Given the description of an element on the screen output the (x, y) to click on. 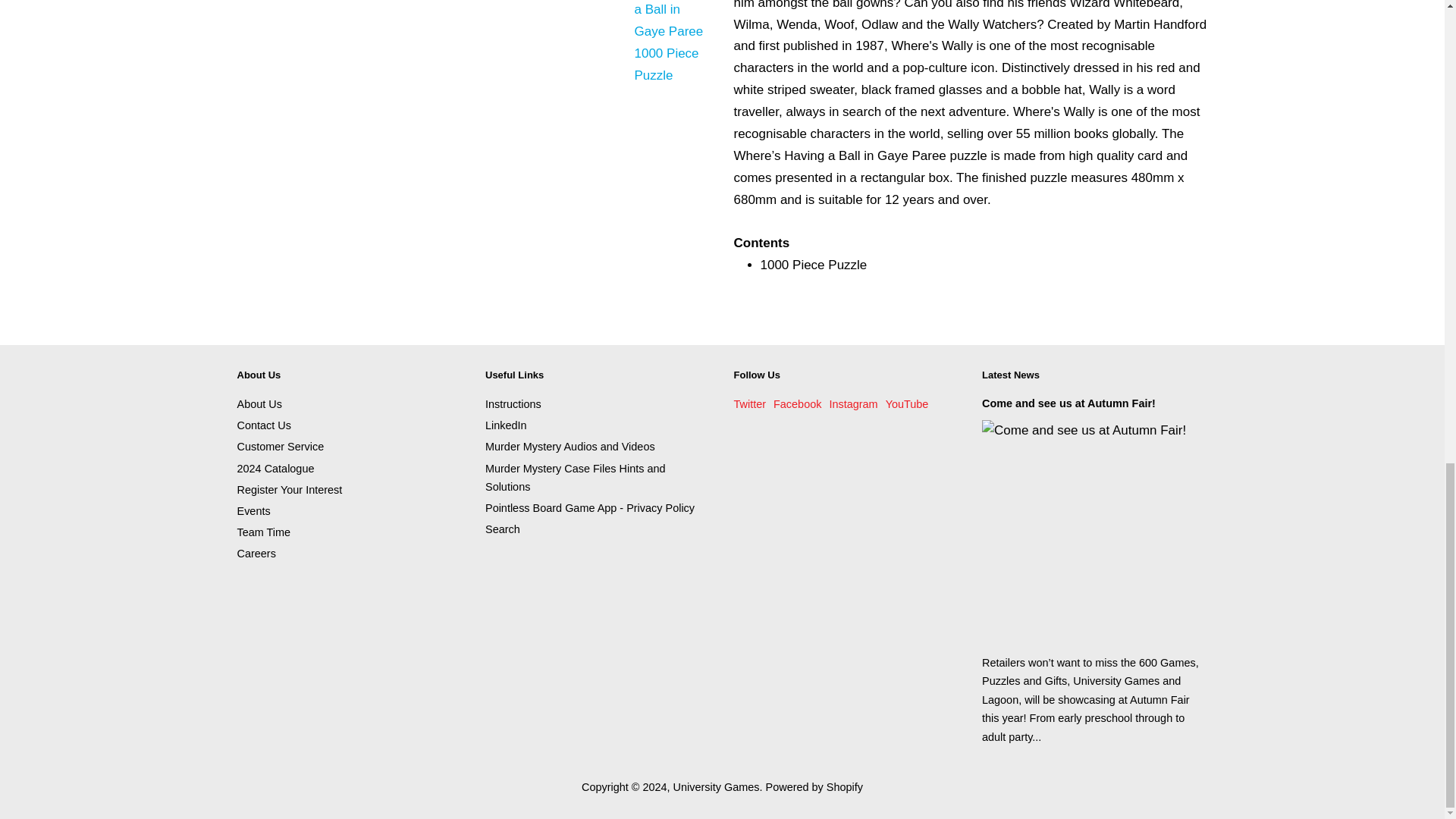
University Games on Twitter (750, 404)
University Games on YouTube (906, 404)
University Games on Facebook (797, 404)
University Games on Instagram (852, 404)
